Given the description of an element on the screen output the (x, y) to click on. 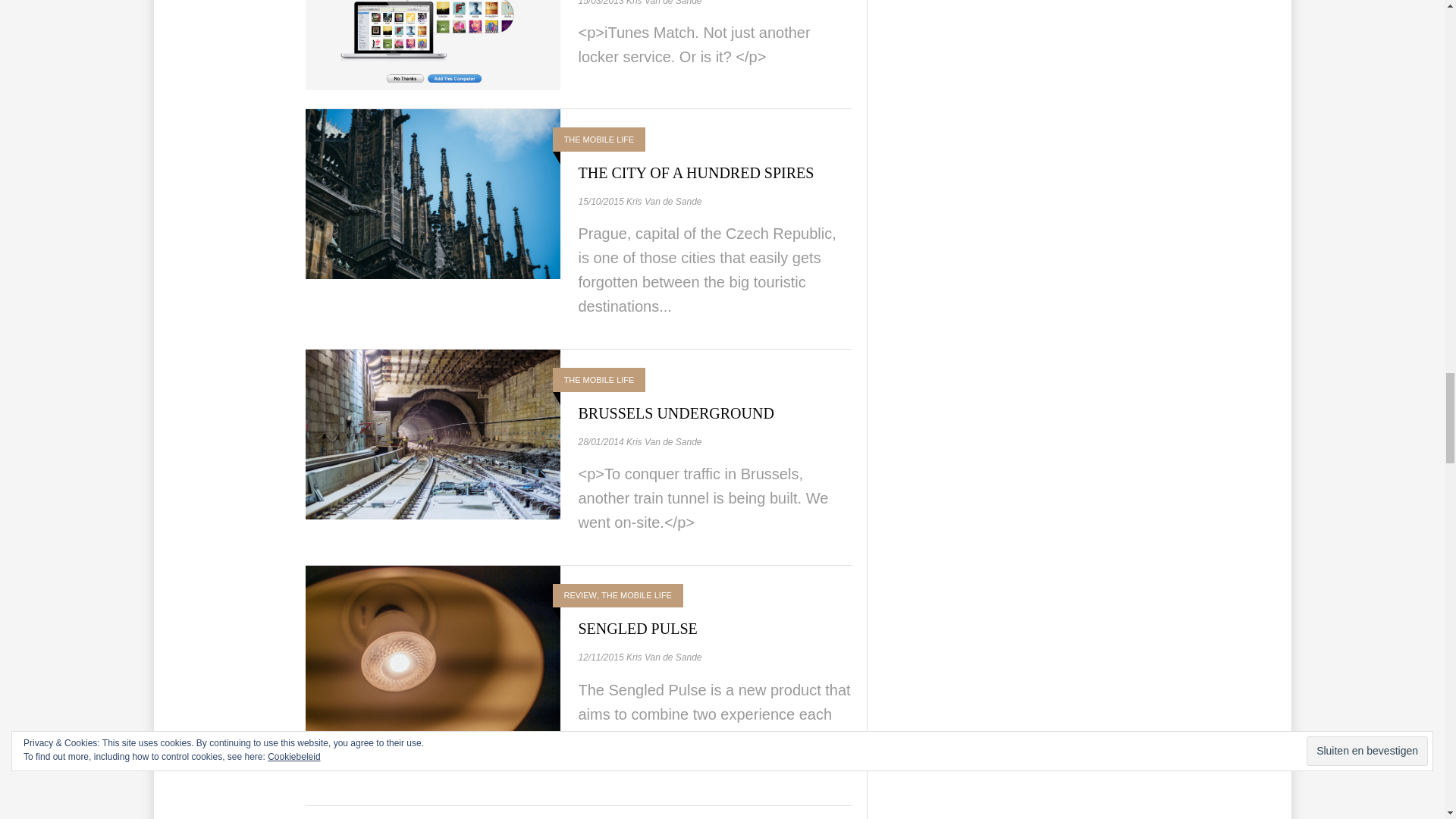
The City of a Hundred Spires (695, 172)
Berichten van Kris Van de Sande (663, 2)
The City of a Hundred Spires (431, 193)
Brussels Underground (431, 432)
Berichten van Kris Van de Sande (663, 201)
iTunes Match (431, 2)
